Given the description of an element on the screen output the (x, y) to click on. 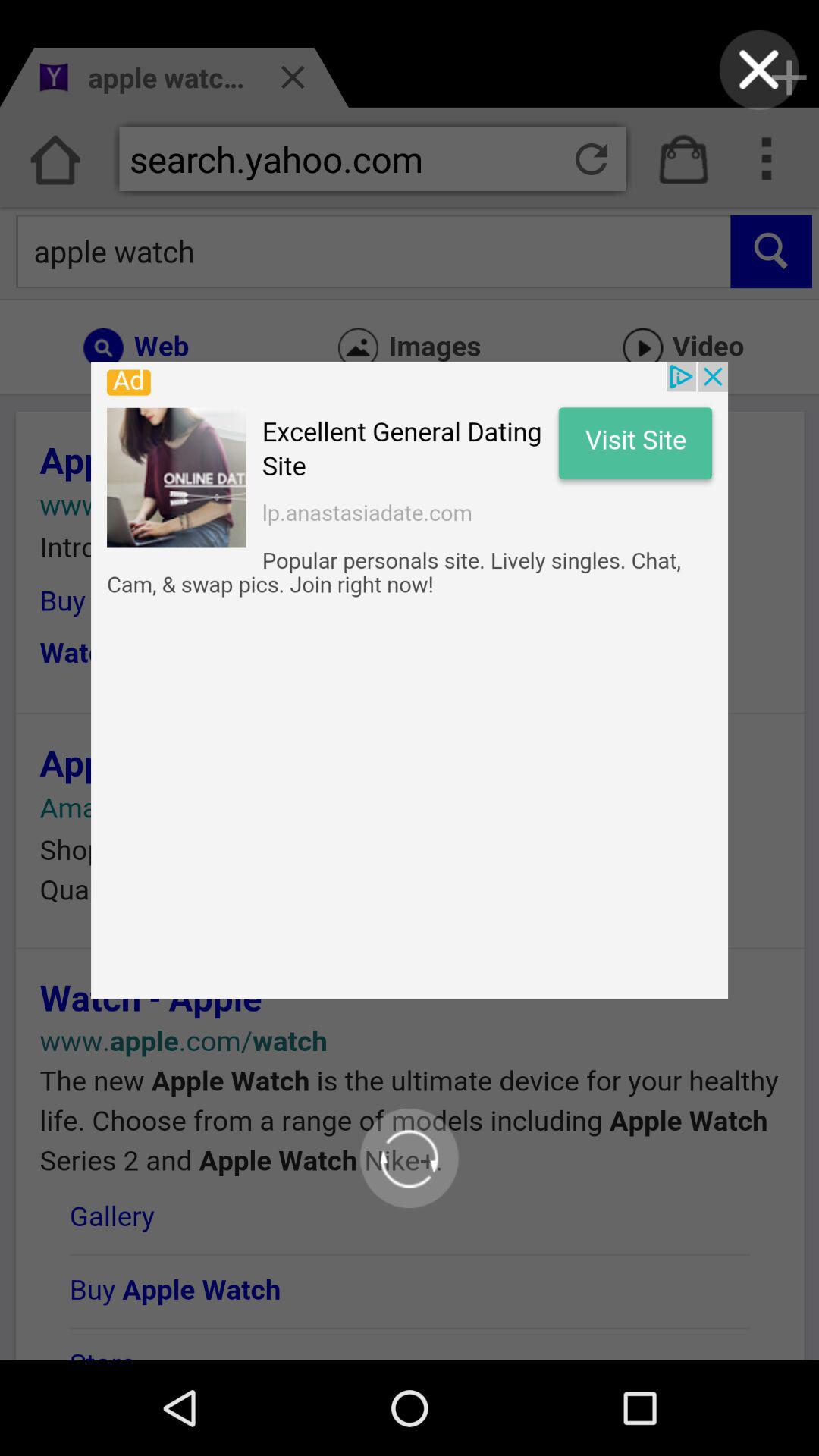
google page (409, 679)
